Given the description of an element on the screen output the (x, y) to click on. 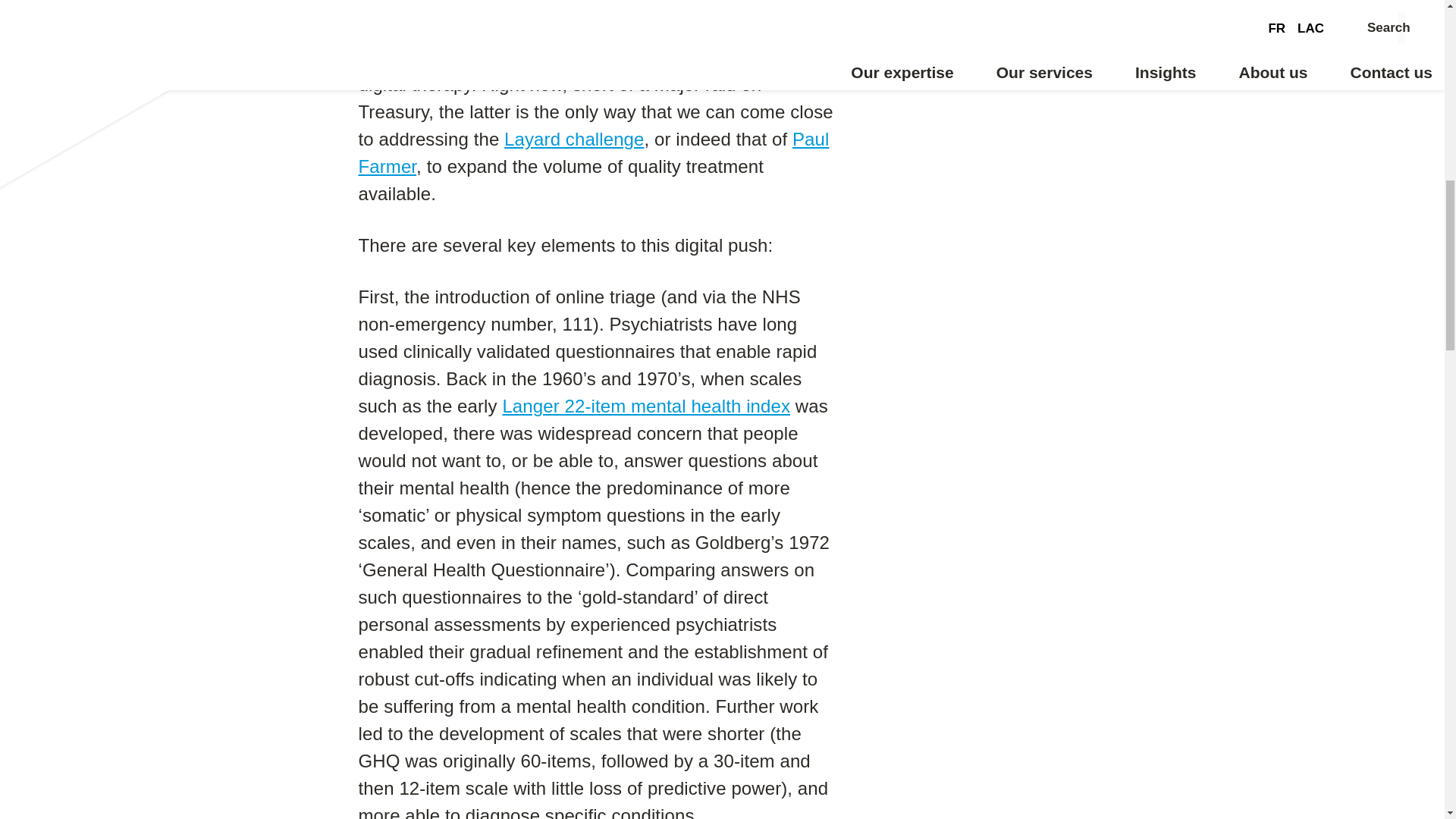
Layard challenge (573, 138)
Langer 22-item mental health index (646, 405)
Paul Farmer (593, 152)
